Given the description of an element on the screen output the (x, y) to click on. 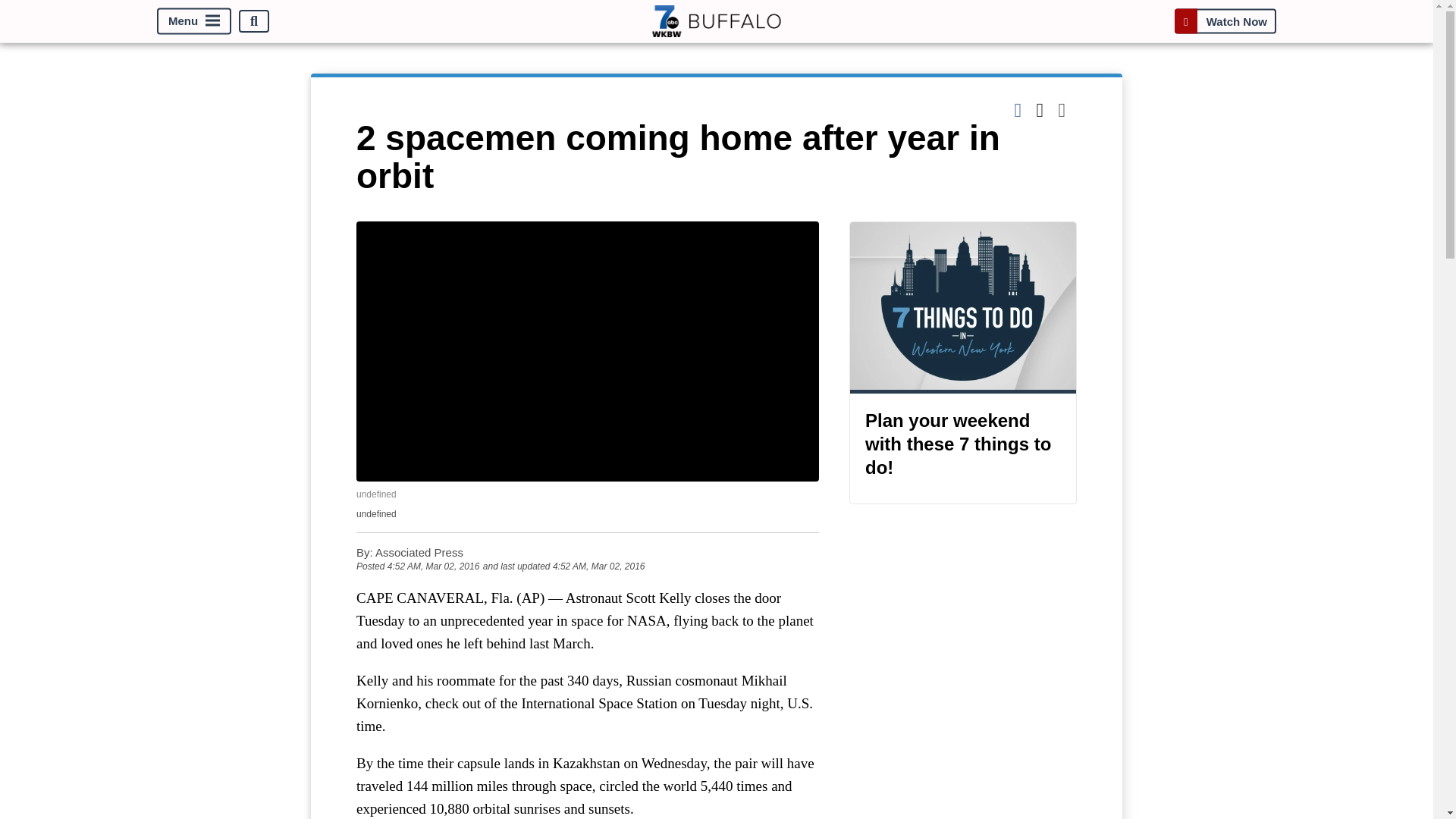
Menu (194, 21)
Watch Now (1224, 21)
